Given the description of an element on the screen output the (x, y) to click on. 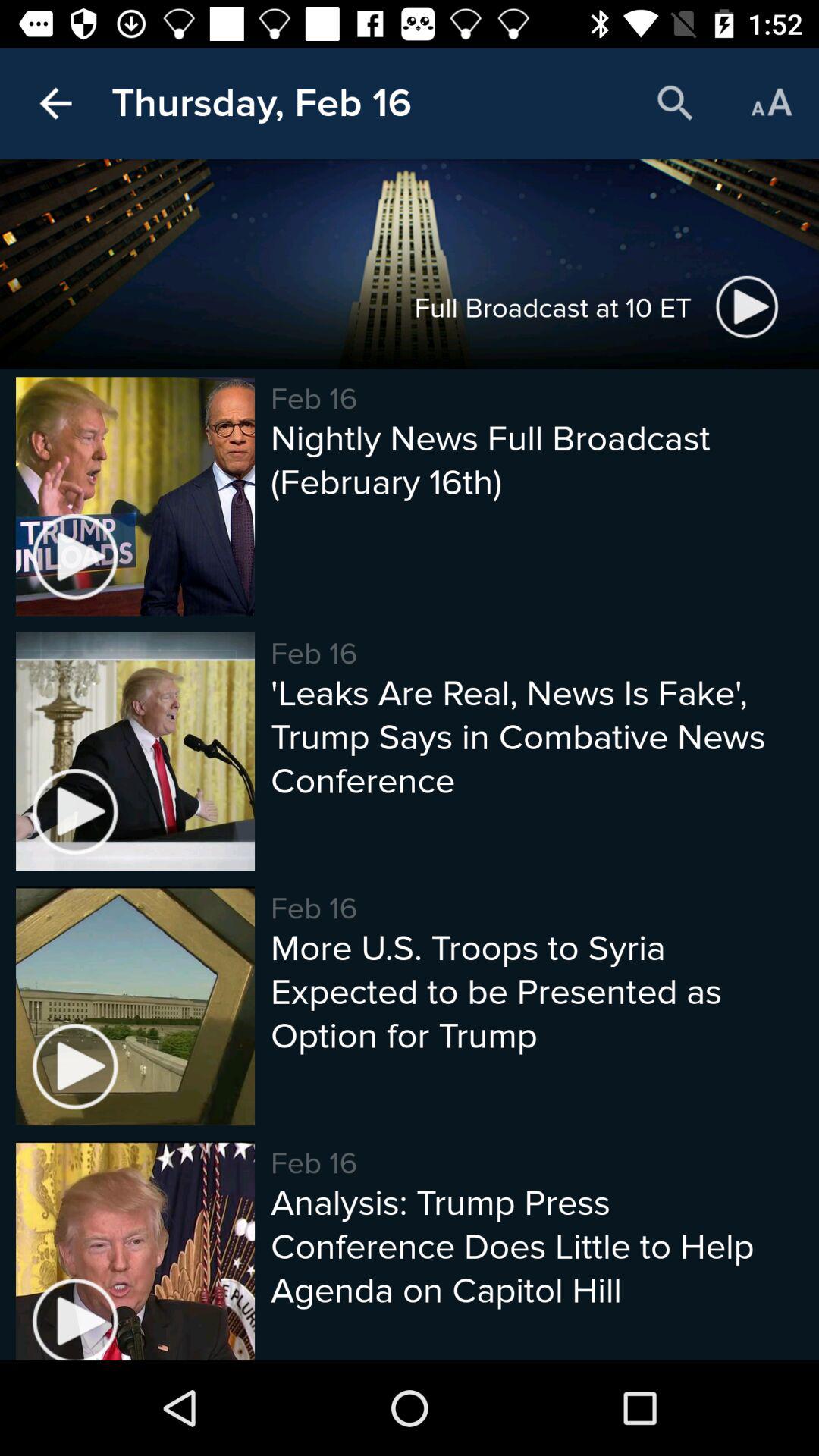
turn on the thursday, feb 16 icon (261, 103)
